Given the description of an element on the screen output the (x, y) to click on. 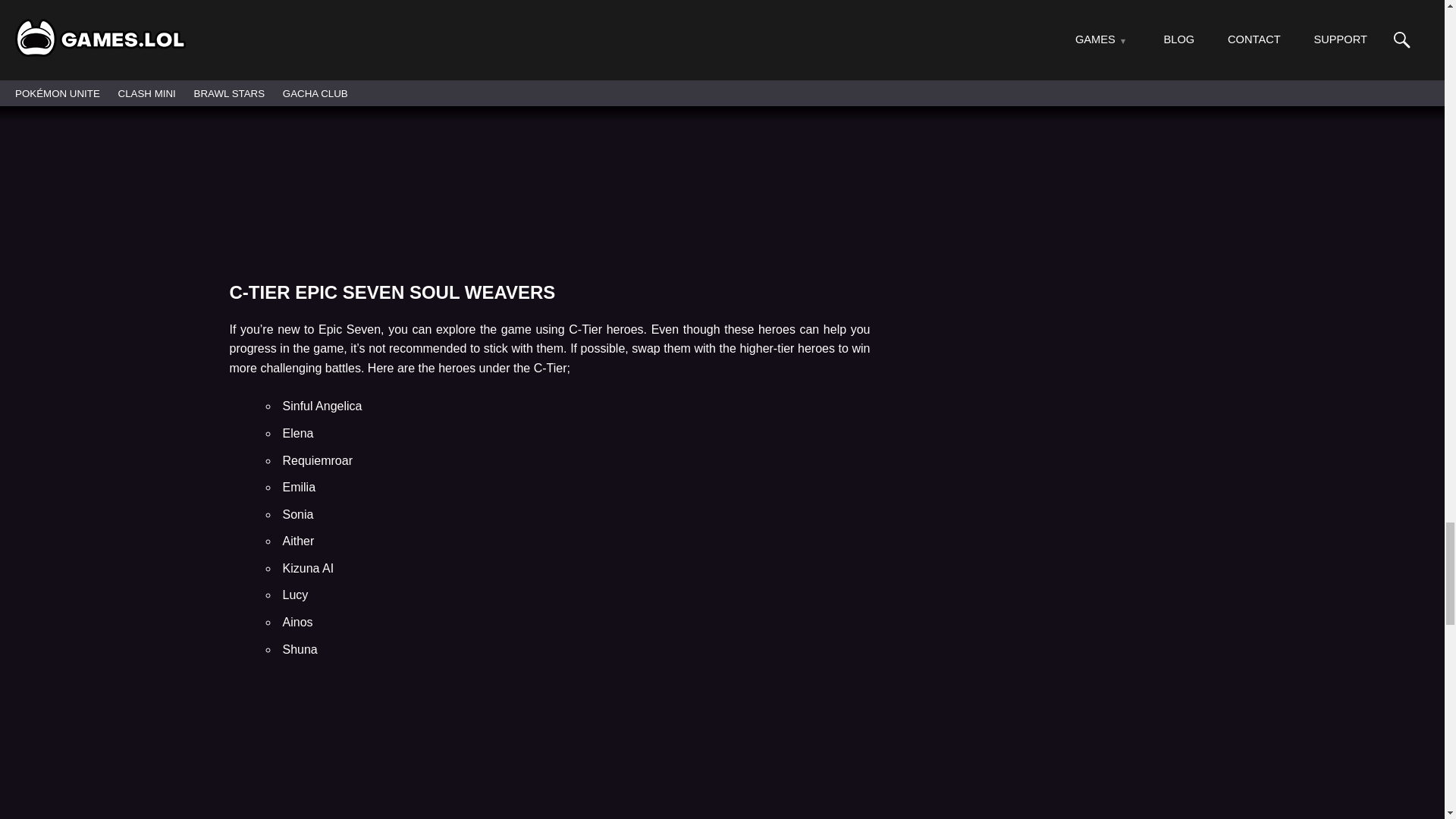
Epic seven aither (549, 767)
